Given the description of an element on the screen output the (x, y) to click on. 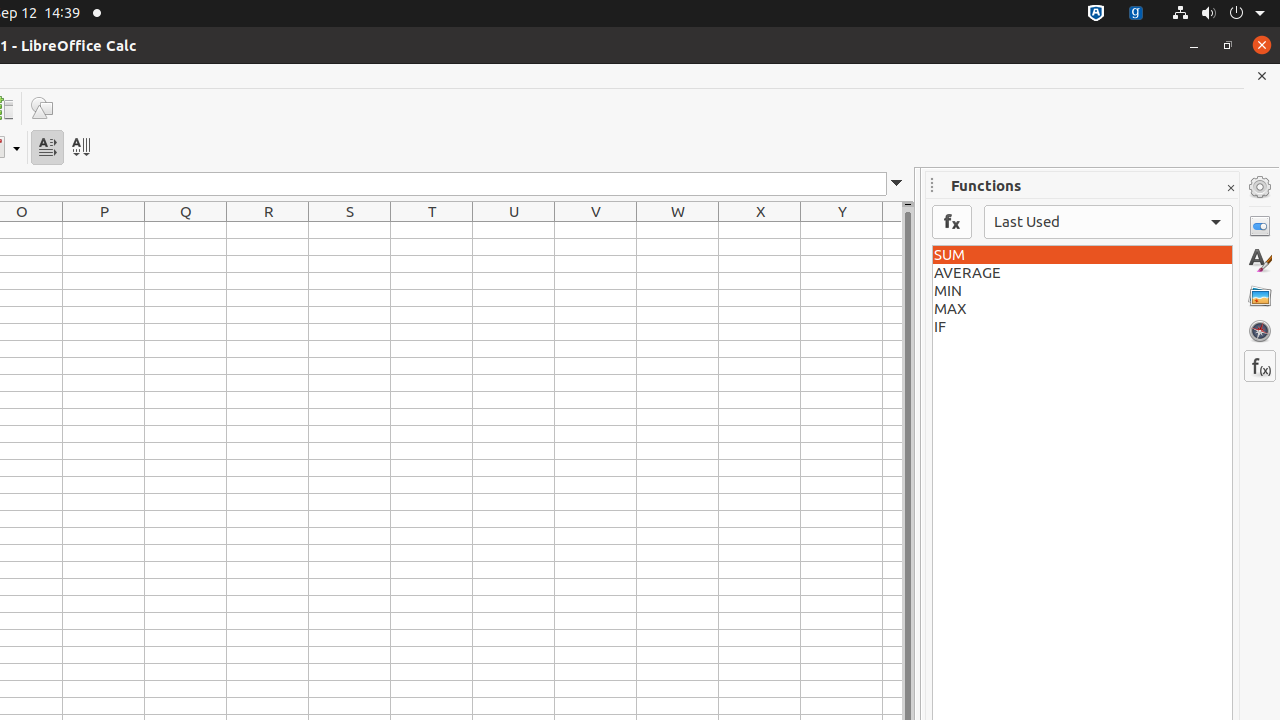
:1.72/StatusNotifierItem Element type: menu (1096, 13)
:1.21/StatusNotifierItem Element type: menu (1136, 13)
X1 Element type: table-cell (760, 230)
Text direction from top to bottom Element type: toggle-button (80, 147)
Styles Element type: radio-button (1260, 261)
